Given the description of an element on the screen output the (x, y) to click on. 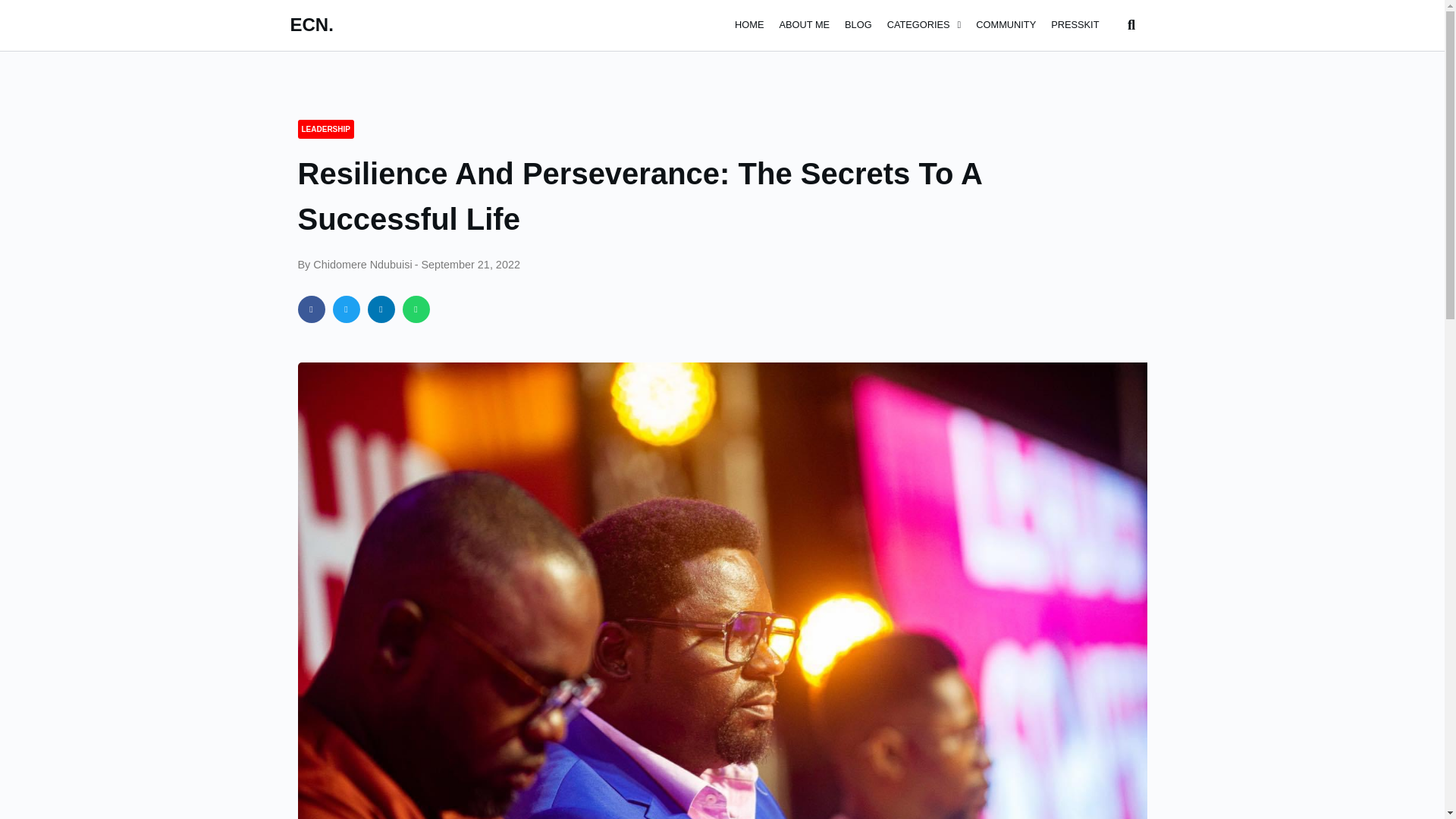
PRESSKIT (1075, 25)
COMMUNITY (1005, 25)
CATEGORIES (923, 25)
ABOUT ME (803, 25)
ECN. (311, 24)
LEADERSHIP (325, 129)
